Given the description of an element on the screen output the (x, y) to click on. 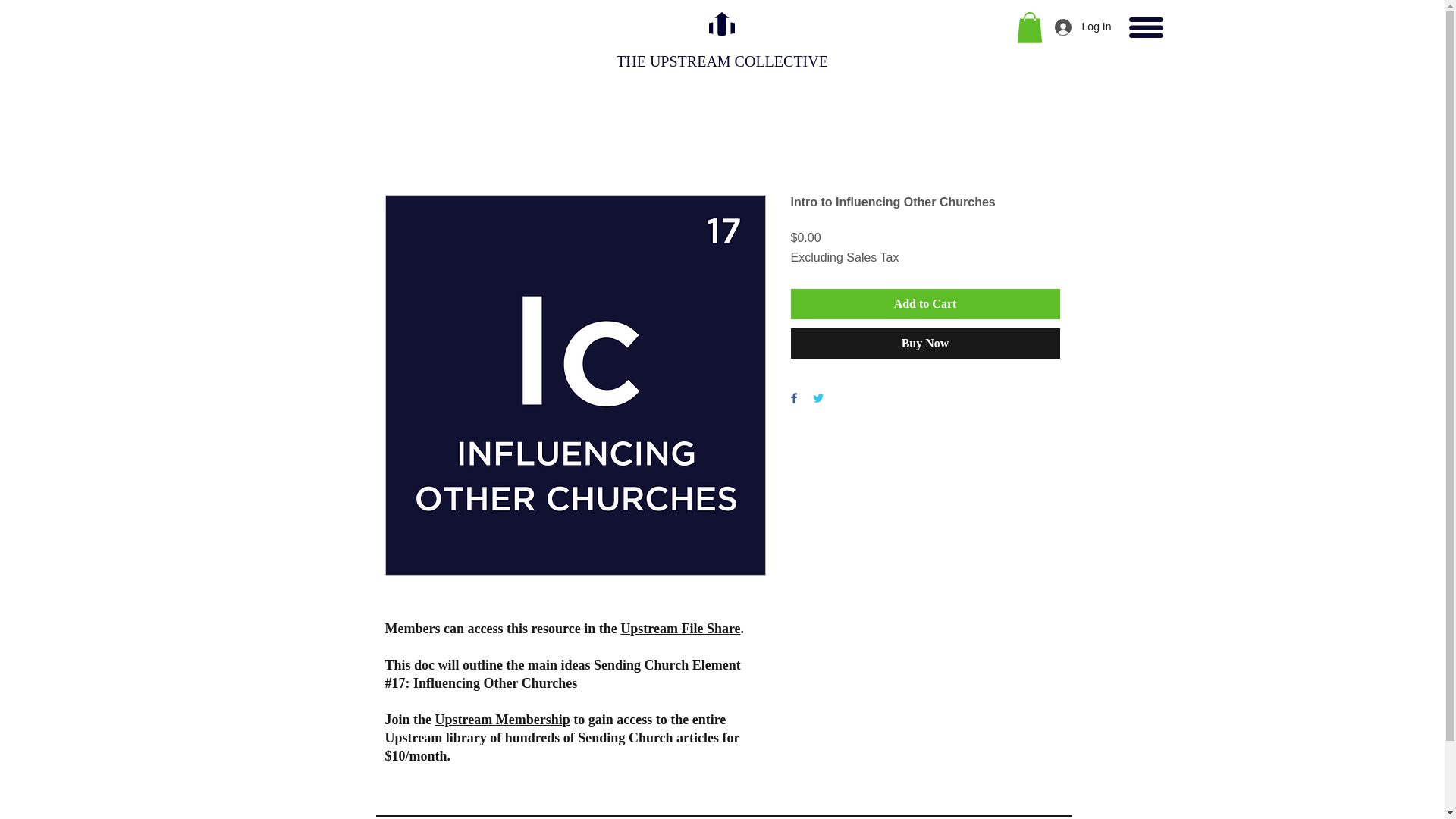
Buy Now (924, 343)
Add to Cart (924, 304)
Upstream File Share (679, 628)
Log In (1082, 26)
Upstream Membership (502, 719)
